Given the description of an element on the screen output the (x, y) to click on. 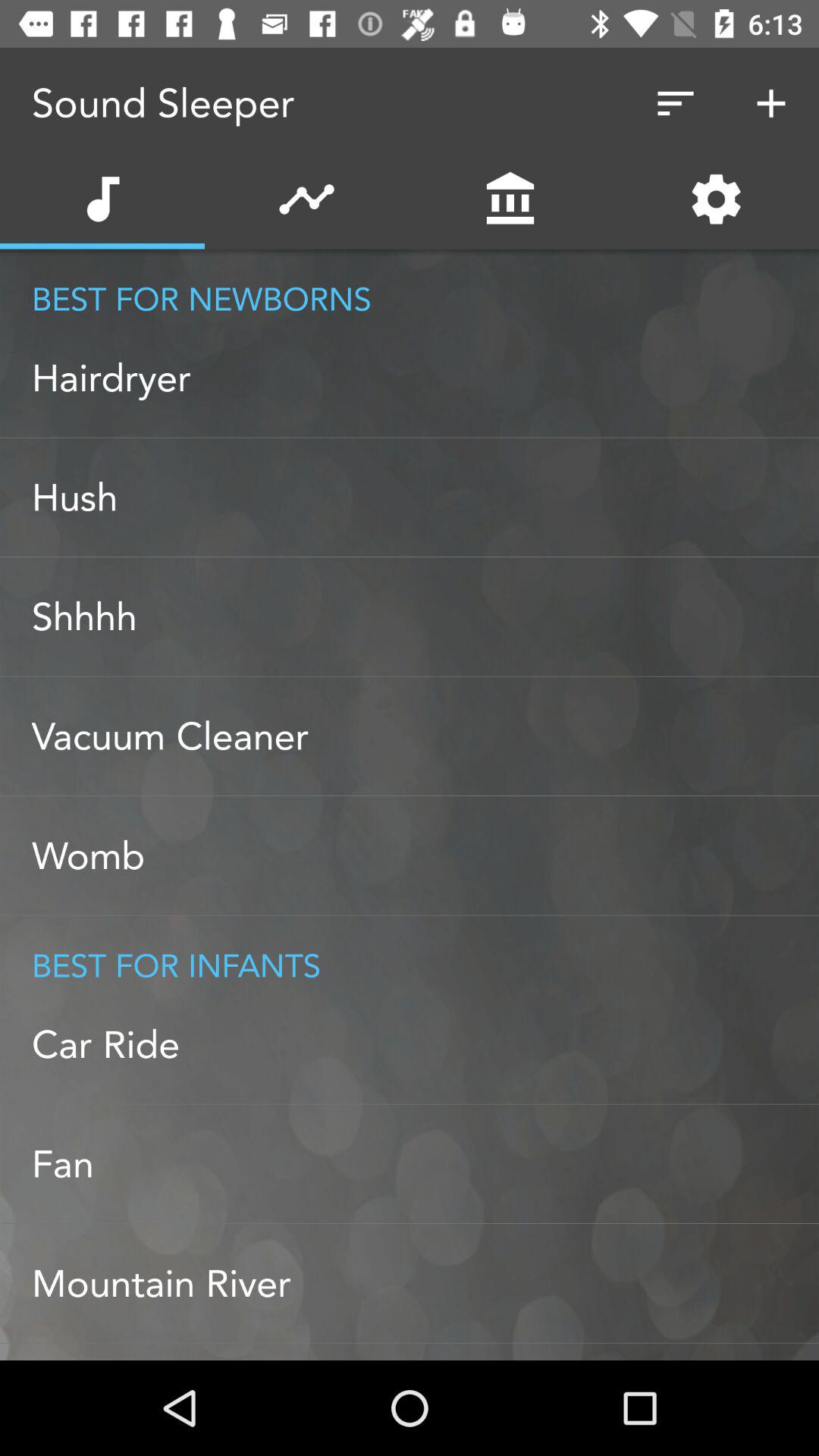
flip until mountain river item (425, 1283)
